Given the description of an element on the screen output the (x, y) to click on. 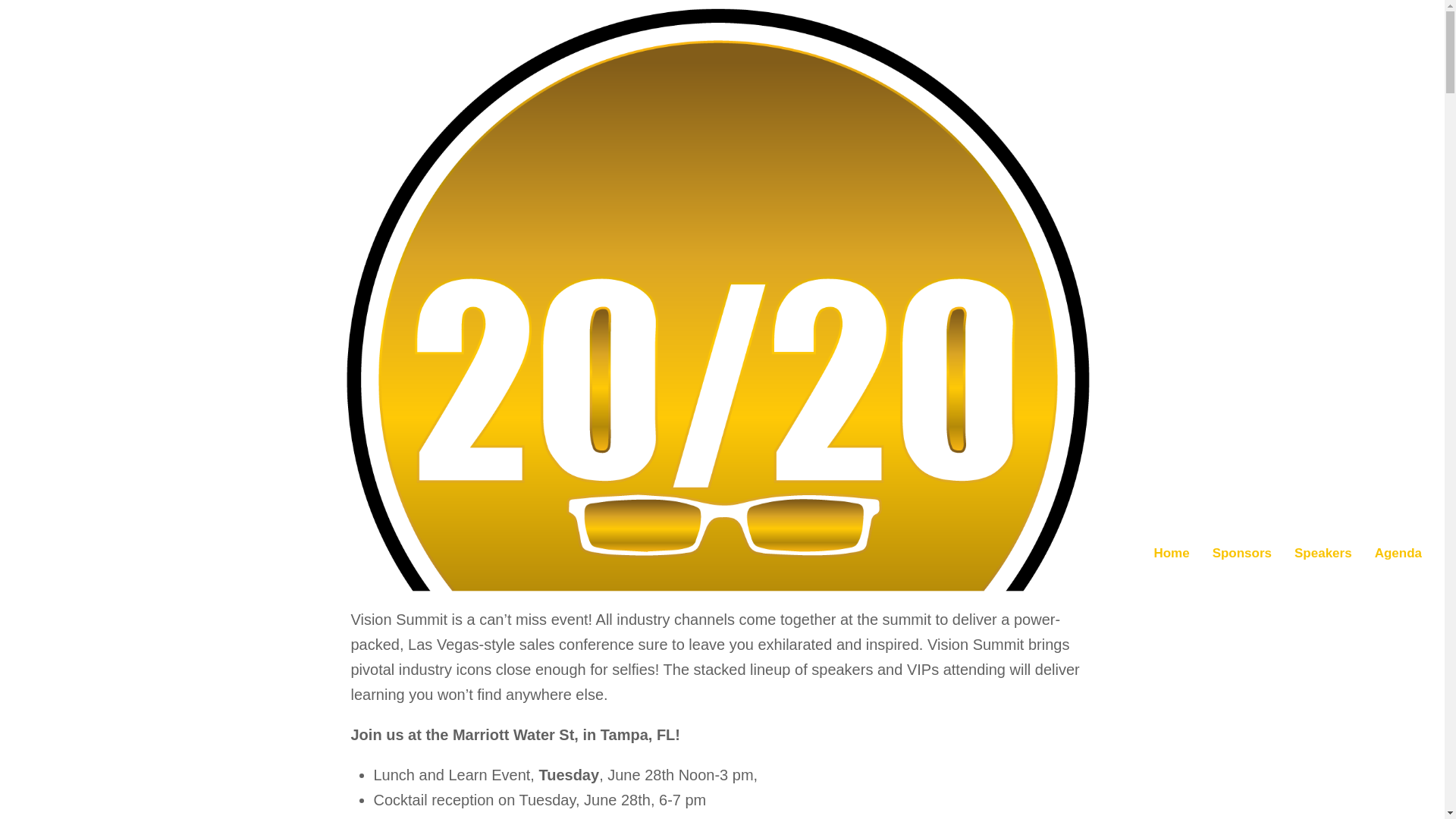
Agenda (1397, 554)
Speakers (1322, 554)
Home (1170, 554)
Sponsors (1241, 554)
